Given the description of an element on the screen output the (x, y) to click on. 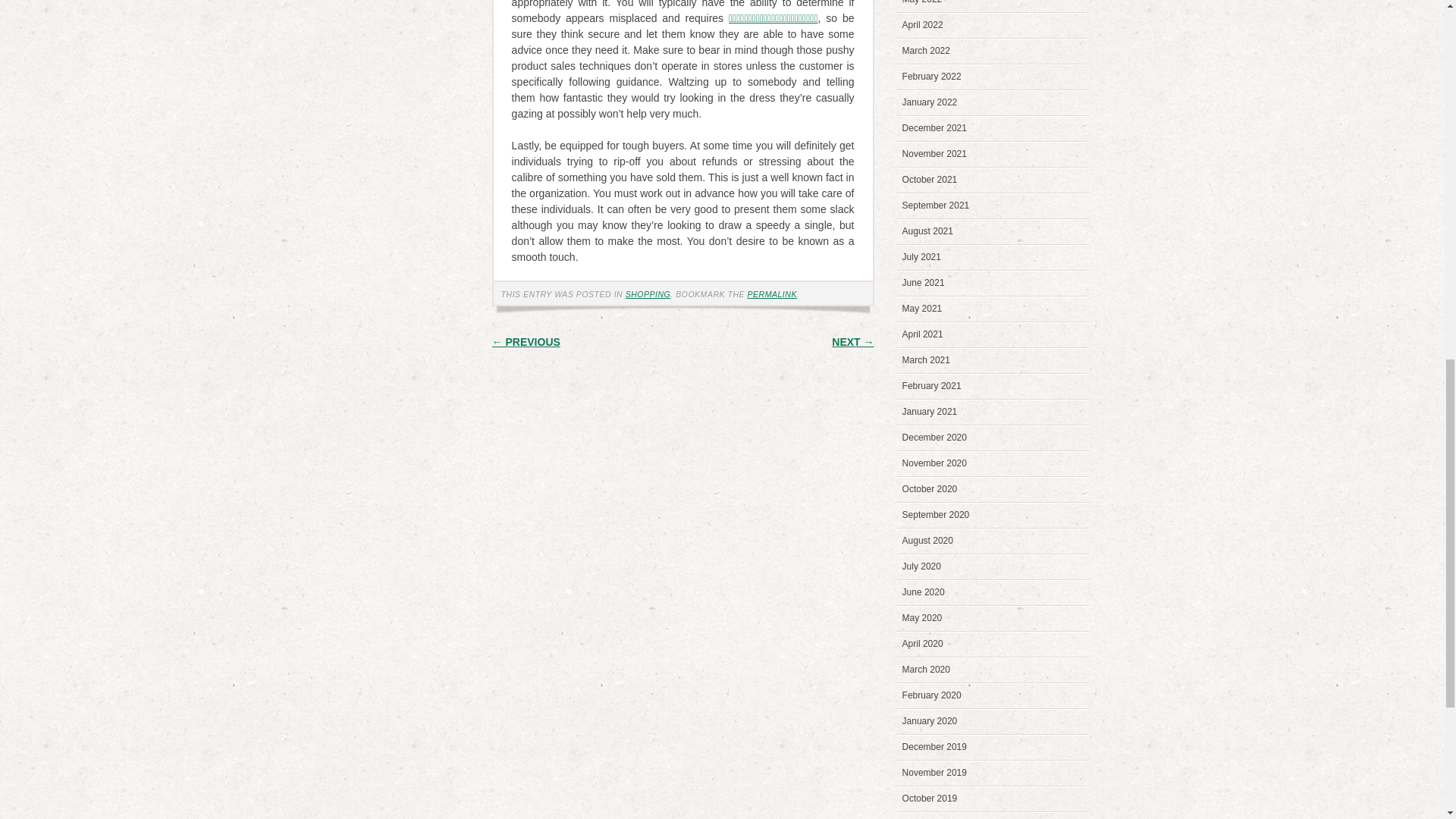
May 2022 (922, 2)
SHOPPING (648, 293)
April 2022 (922, 24)
PERMALINK (772, 293)
